Given the description of an element on the screen output the (x, y) to click on. 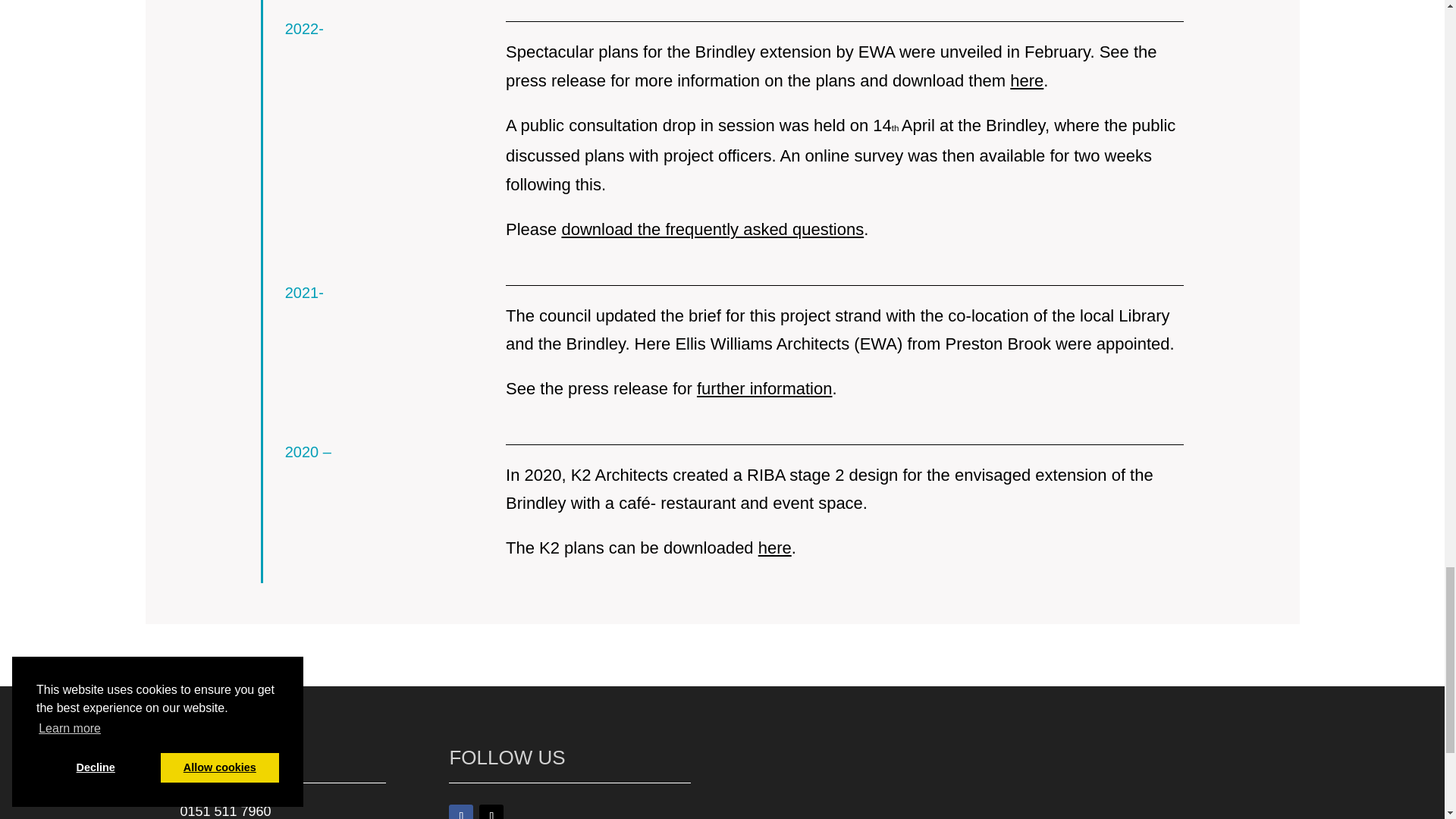
Follow on Facebook (460, 811)
Follow on X (491, 811)
further information (764, 388)
0151 511 7960 (225, 811)
download the frequently asked questions (711, 229)
here (775, 547)
here (1026, 80)
